Given the description of an element on the screen output the (x, y) to click on. 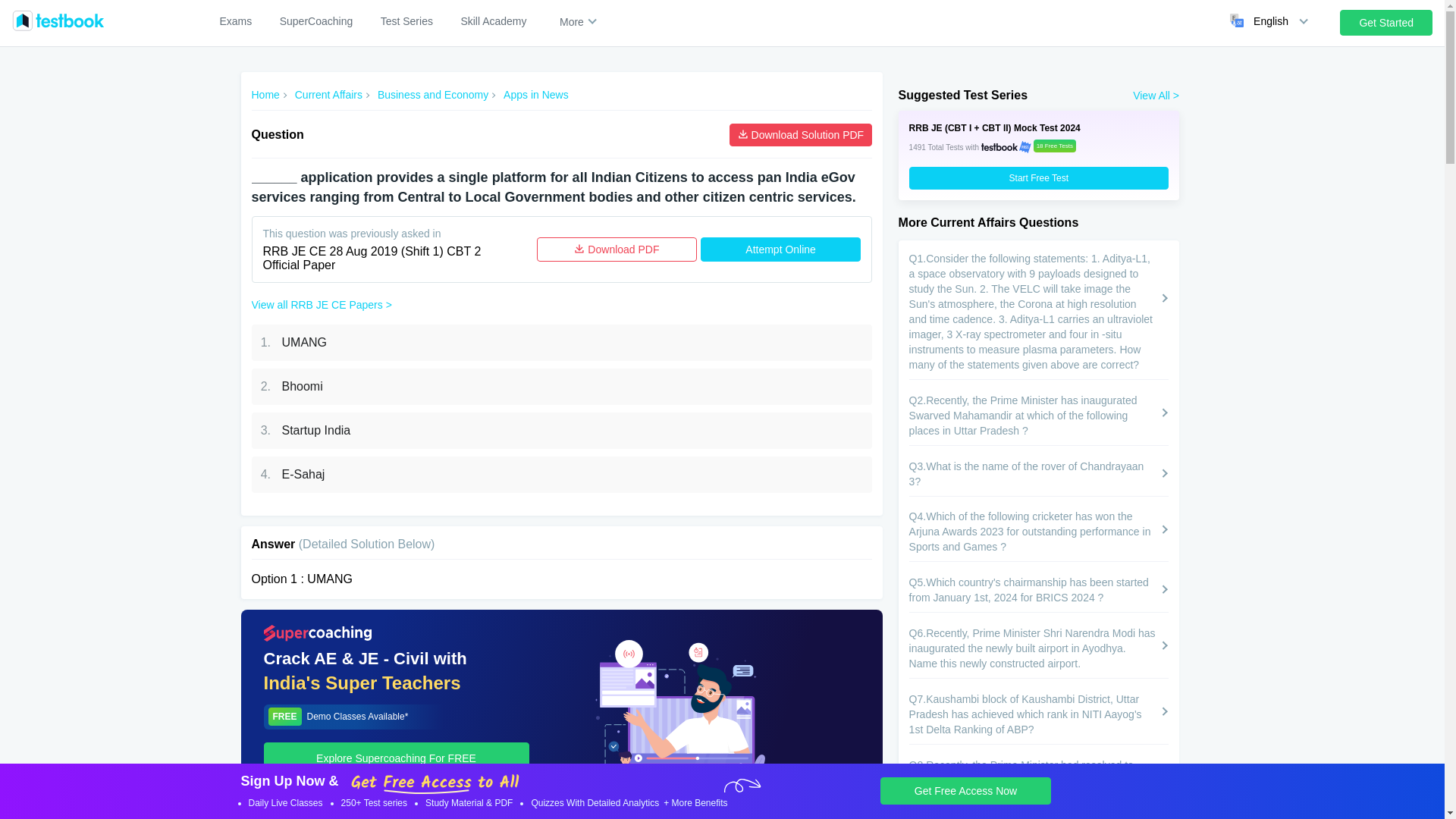
Get Started (1385, 22)
SuperCoaching (316, 21)
Current Affairs (328, 94)
Download Solution PDF (800, 134)
Current Affairs (328, 94)
Download PDF (617, 249)
Apps in News (536, 94)
Home (265, 94)
Skill Academy (493, 21)
Apps in News (536, 94)
